Given the description of an element on the screen output the (x, y) to click on. 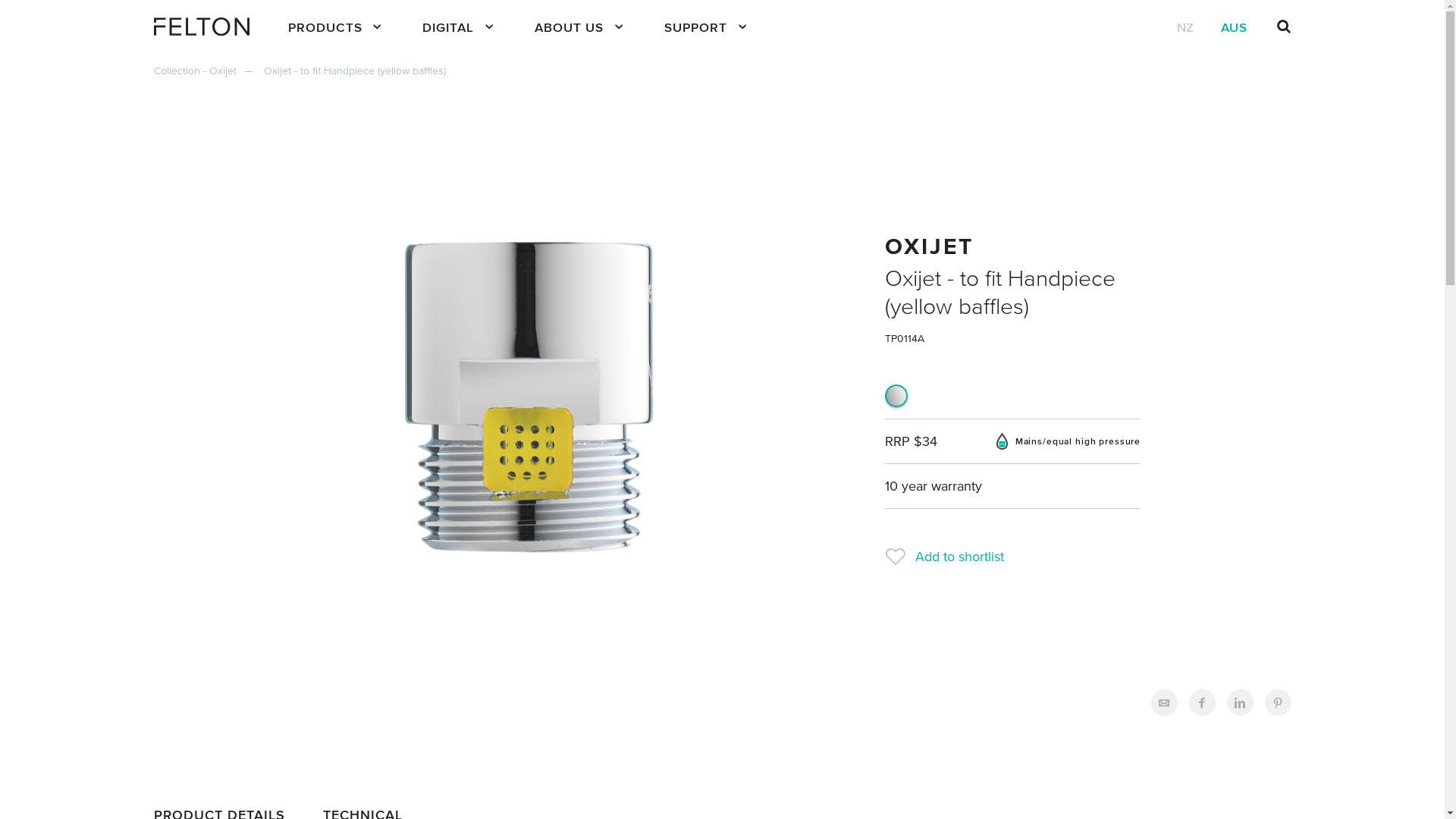
DIGITAL Element type: text (458, 26)
Collection - Oxijet Element type: text (206, 70)
NZ Element type: text (1185, 26)
ABOUT US Element type: text (579, 26)
PRODUCTS Element type: text (336, 26)
Add to shortlist Element type: text (1012, 556)
AUS Element type: text (1234, 26)
Oxijet - to fit Handpiece (yellow baffles) Element type: text (354, 70)
SUPPORT Element type: text (706, 26)
Chrome Element type: hover (895, 394)
